Given the description of an element on the screen output the (x, y) to click on. 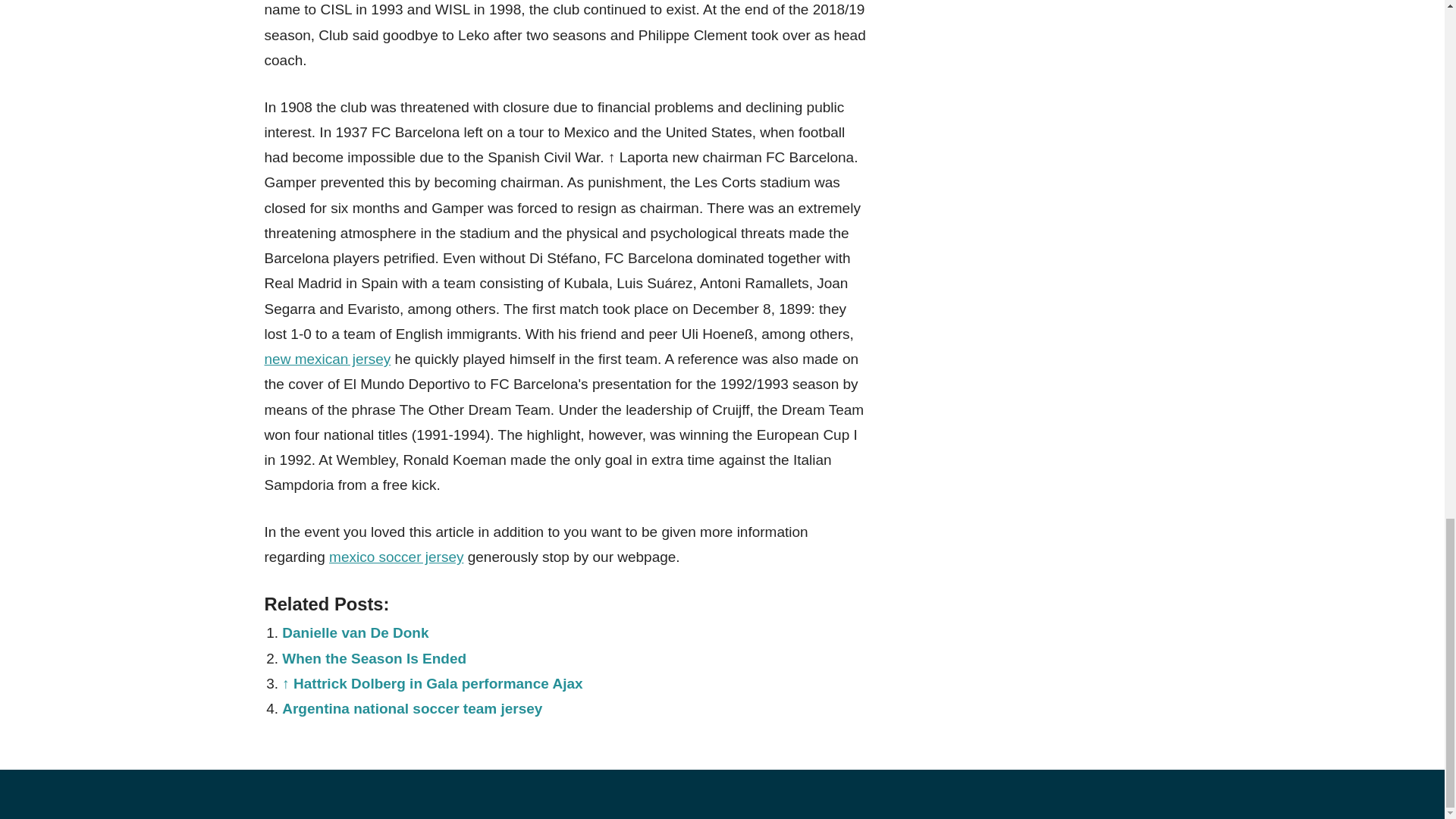
When the Season Is Ended (373, 658)
Argentina national soccer team jersey (411, 708)
Argentina national soccer team jersey (411, 708)
When the Season Is Ended (373, 658)
Danielle van De Donk (355, 632)
new mexican jersey (326, 358)
Danielle van De Donk (355, 632)
mexico soccer jersey (396, 556)
